Given the description of an element on the screen output the (x, y) to click on. 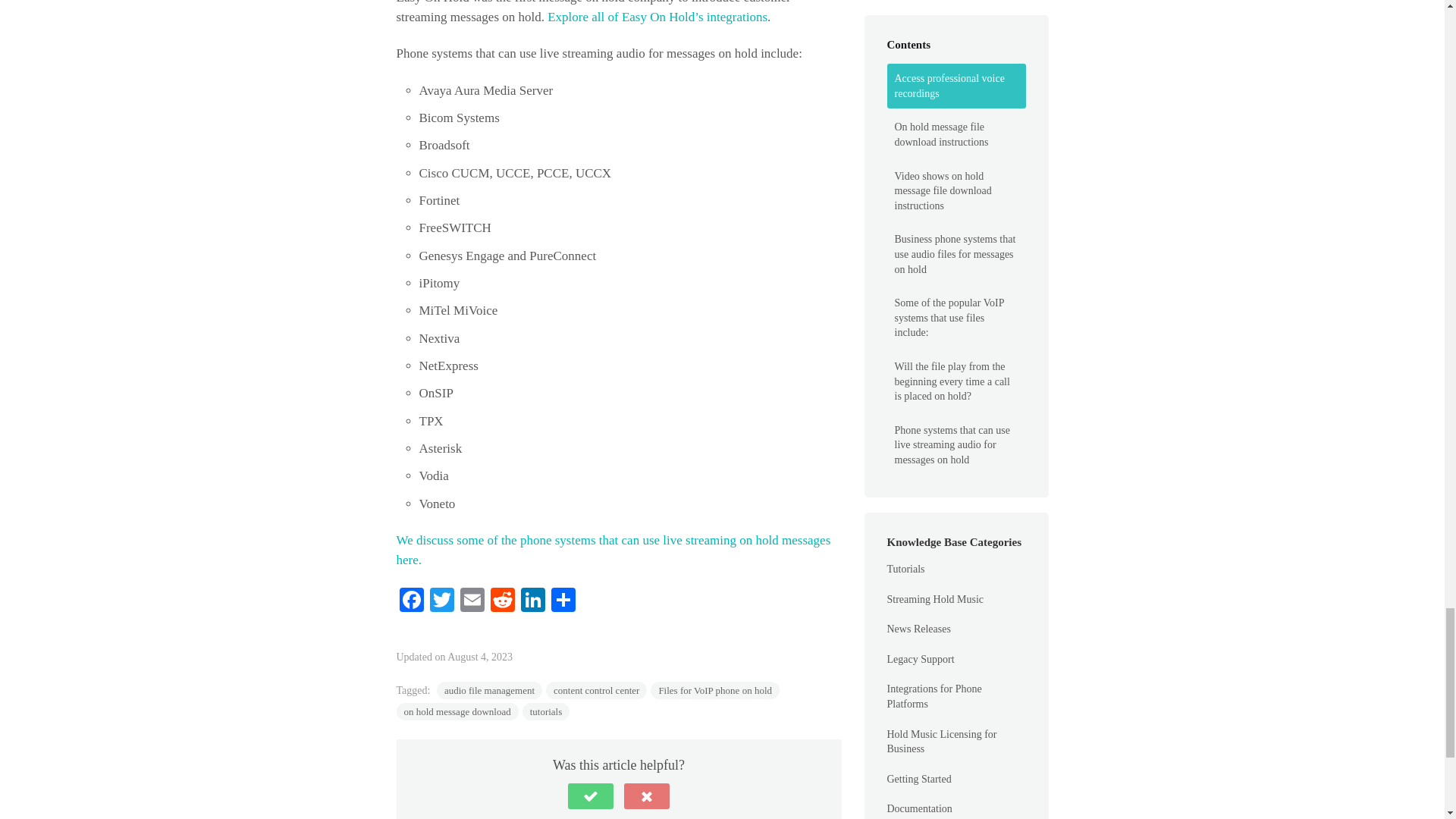
Reddit (501, 601)
audio file management (488, 690)
Email (471, 601)
Email (471, 601)
Twitter (441, 601)
Twitter (441, 601)
Files for VoIP phone on hold (714, 690)
LinkedIn (531, 601)
Facebook (411, 601)
Facebook (411, 601)
